Given the description of an element on the screen output the (x, y) to click on. 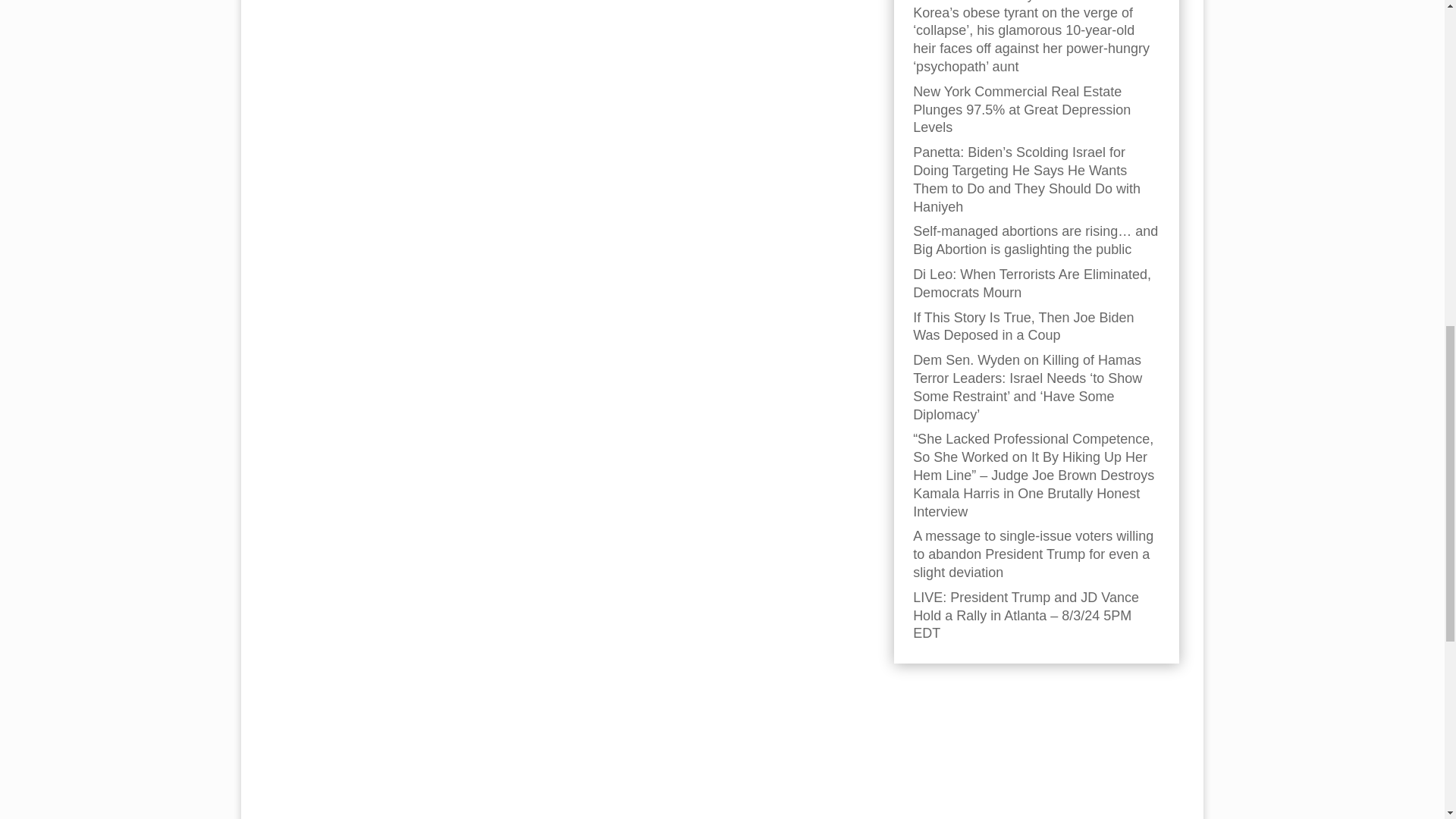
If This Story Is True, Then Joe Biden Was Deposed in a Coup (1023, 326)
Di Leo: When Terrorists Are Eliminated, Democrats Mourn (1031, 283)
